Given the description of an element on the screen output the (x, y) to click on. 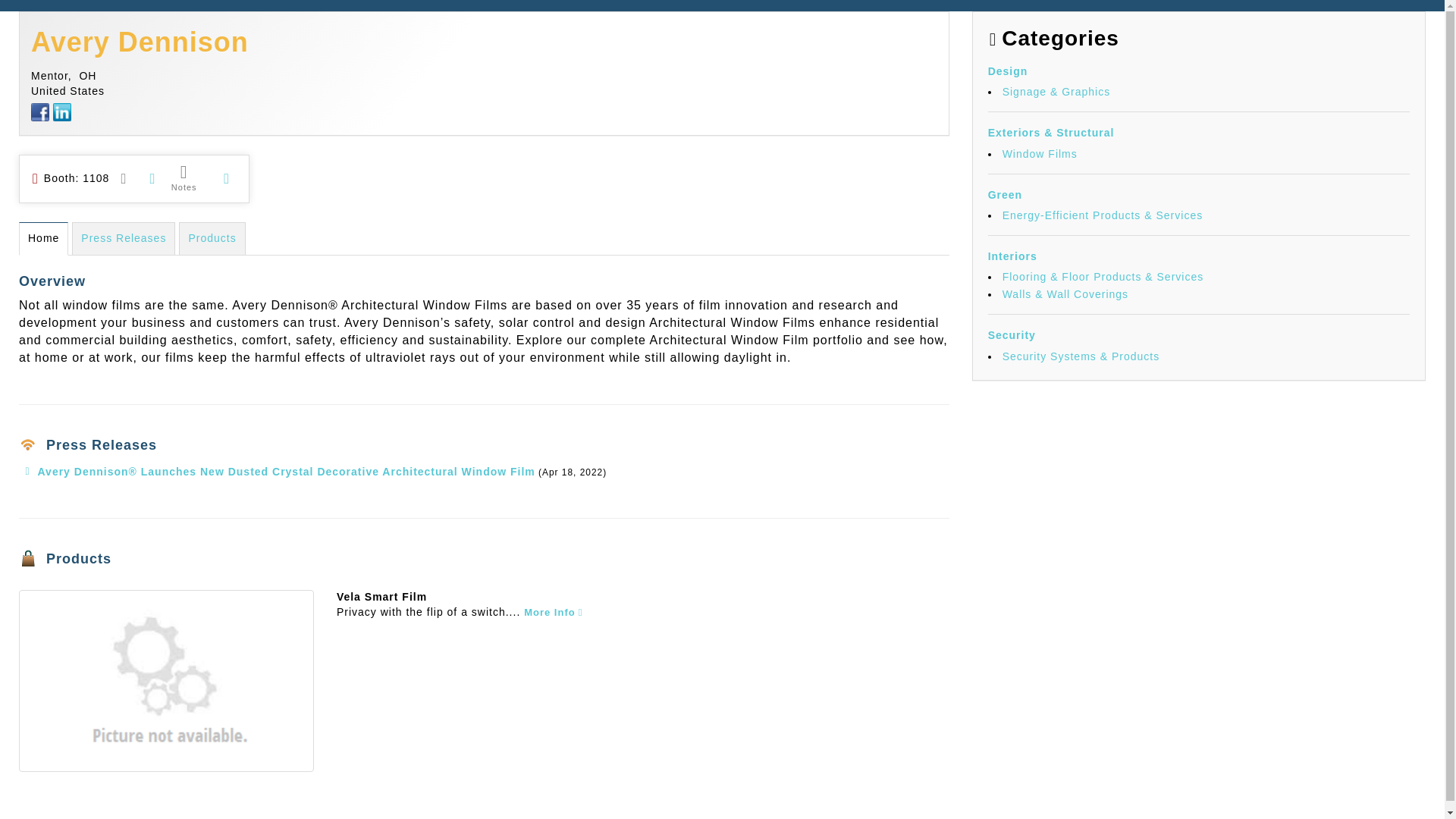
Log in to add notes (183, 178)
Print (152, 177)
Green (1005, 194)
Add To My Exhibitors (225, 178)
Window Films (1040, 153)
Interiors (1012, 256)
Products (211, 237)
Press Releases (122, 237)
More Info (553, 612)
Security (1011, 335)
Request Appointment (123, 177)
Design (1007, 70)
Home (43, 238)
